Given the description of an element on the screen output the (x, y) to click on. 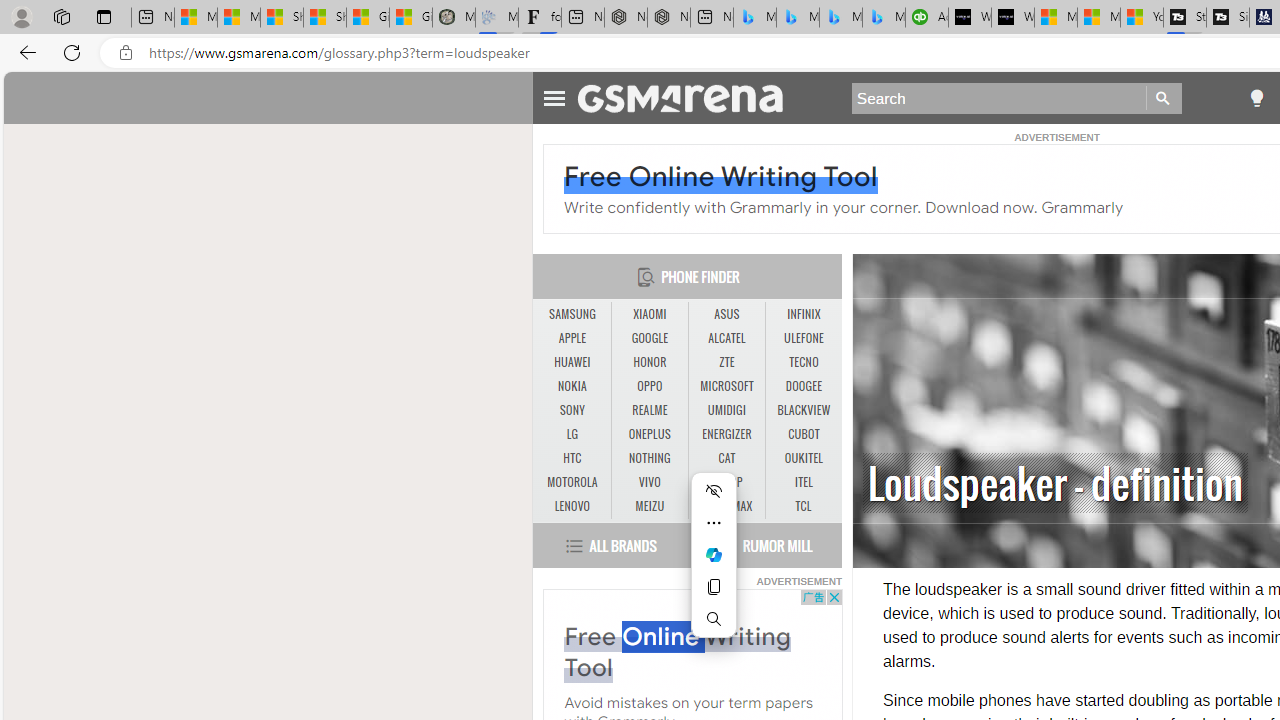
MOTOROLA (571, 482)
XIAOMI (649, 313)
More actions (714, 522)
SAMSUNG (571, 313)
MICROMAX (726, 506)
ONEPLUS (649, 434)
GOOGLE (649, 339)
LENOVO (571, 506)
NOKIA (571, 386)
Mini menu on text selection (714, 566)
Free Online Writing Tool (677, 651)
